Given the description of an element on the screen output the (x, y) to click on. 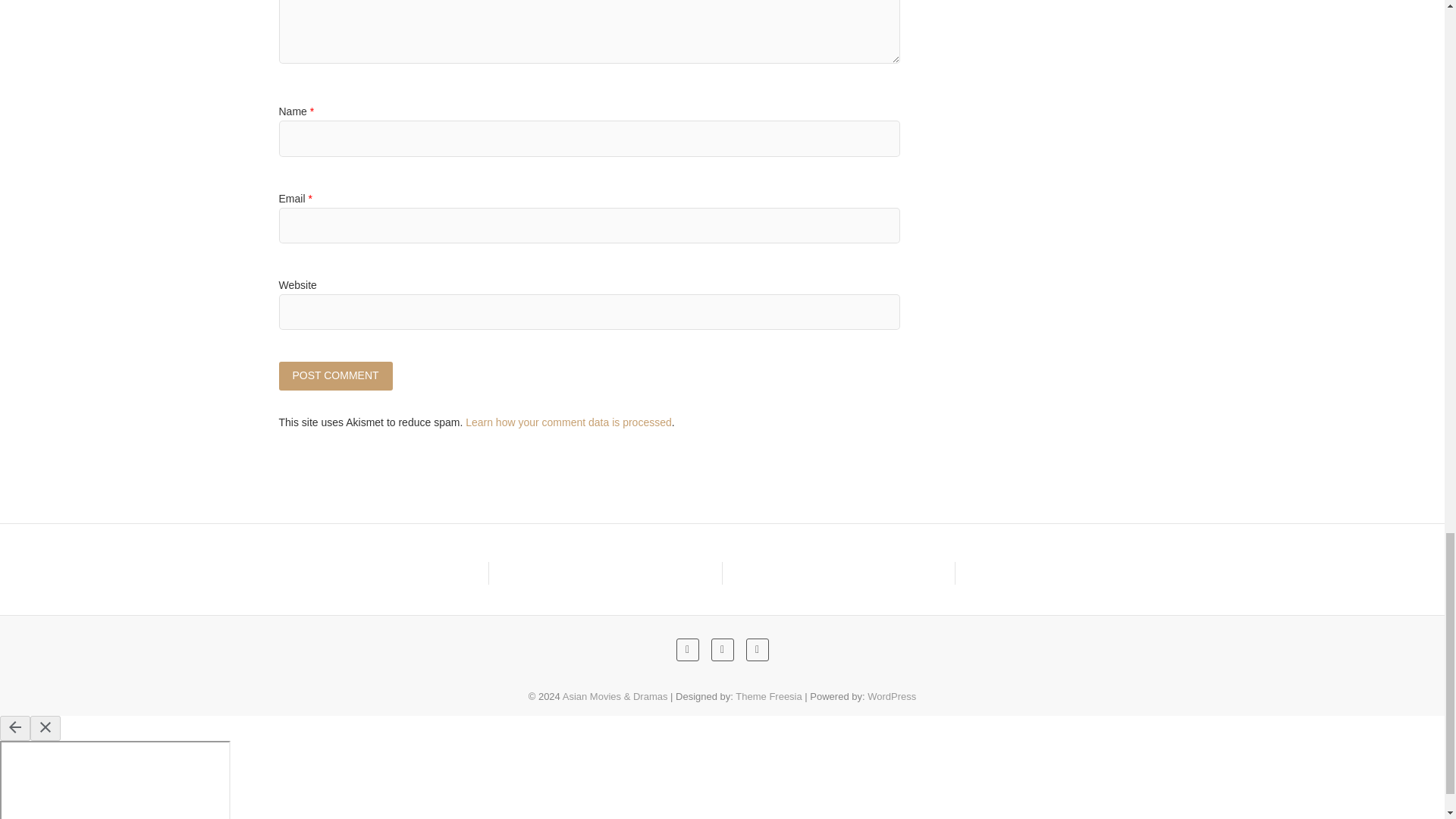
WordPress (891, 696)
WordPress (891, 696)
Theme Freesia (768, 696)
Post Comment (336, 375)
Post Comment (336, 375)
Theme Freesia (768, 696)
Learn how your comment data is processed (568, 422)
